Given the description of an element on the screen output the (x, y) to click on. 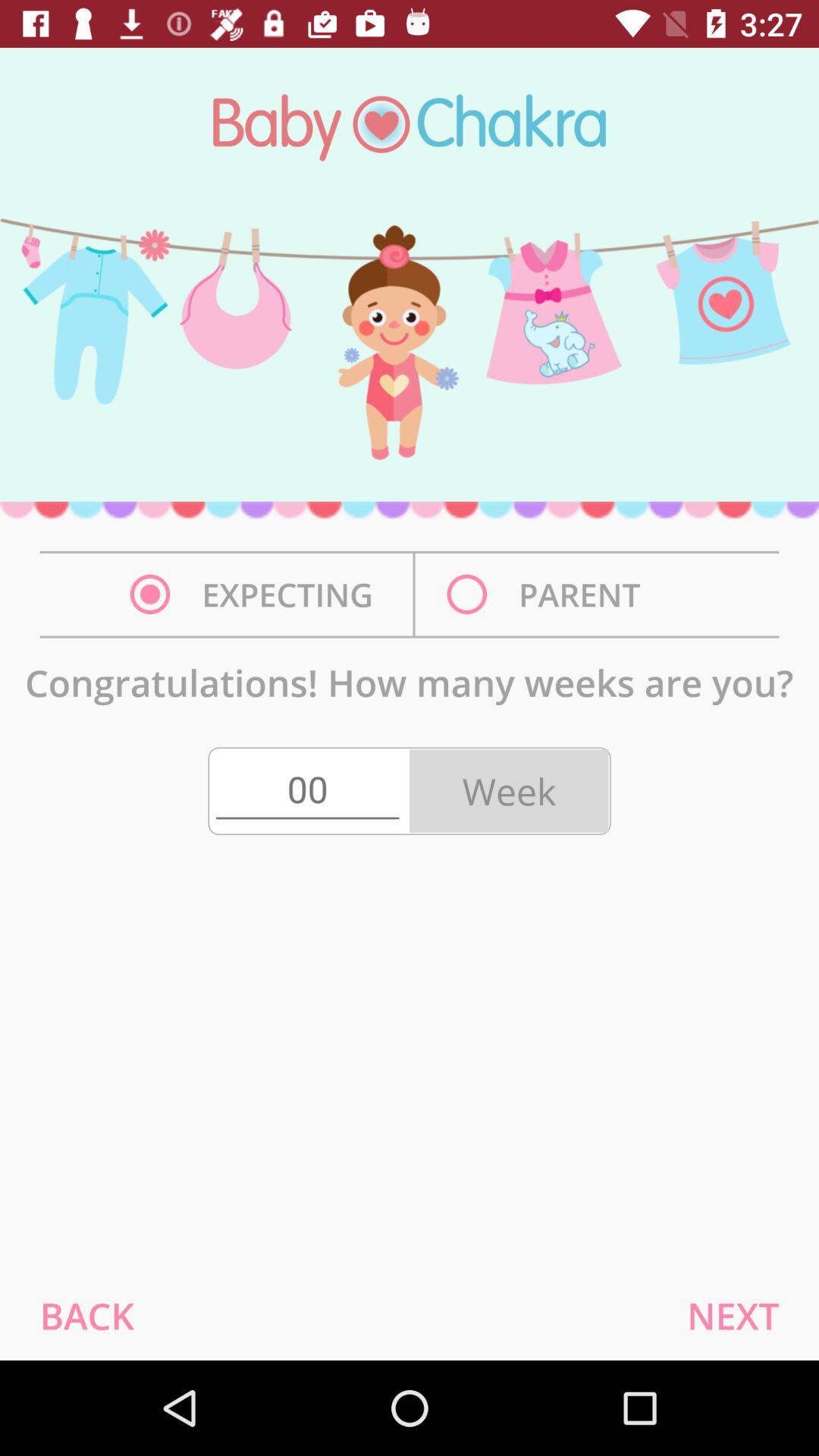
click the item at the bottom left corner (86, 1315)
